Given the description of an element on the screen output the (x, y) to click on. 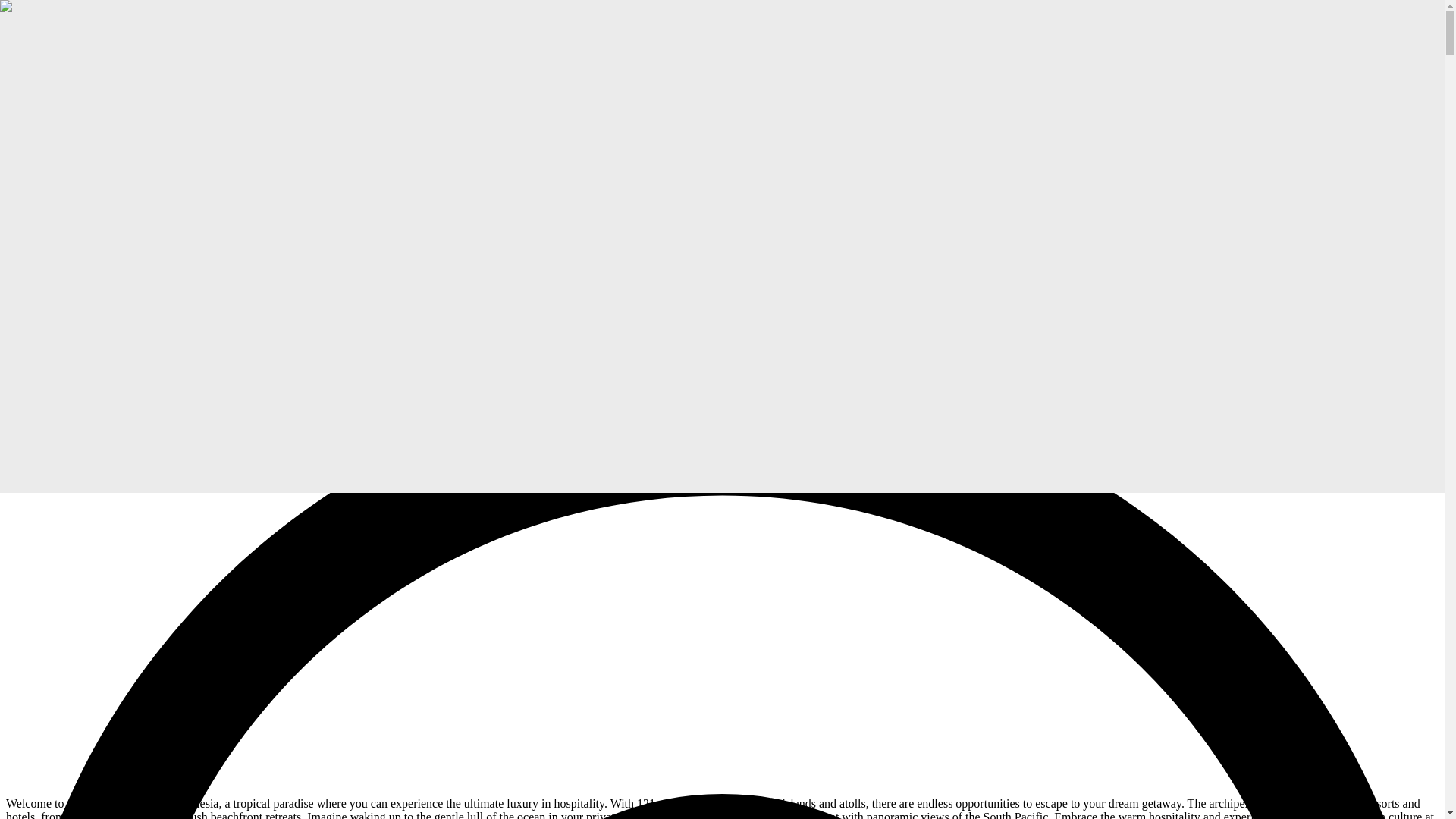
Countries (59, 241)
Home (50, 214)
Hotels (52, 89)
Publications (66, 103)
Travelated (37, 31)
